Given the description of an element on the screen output the (x, y) to click on. 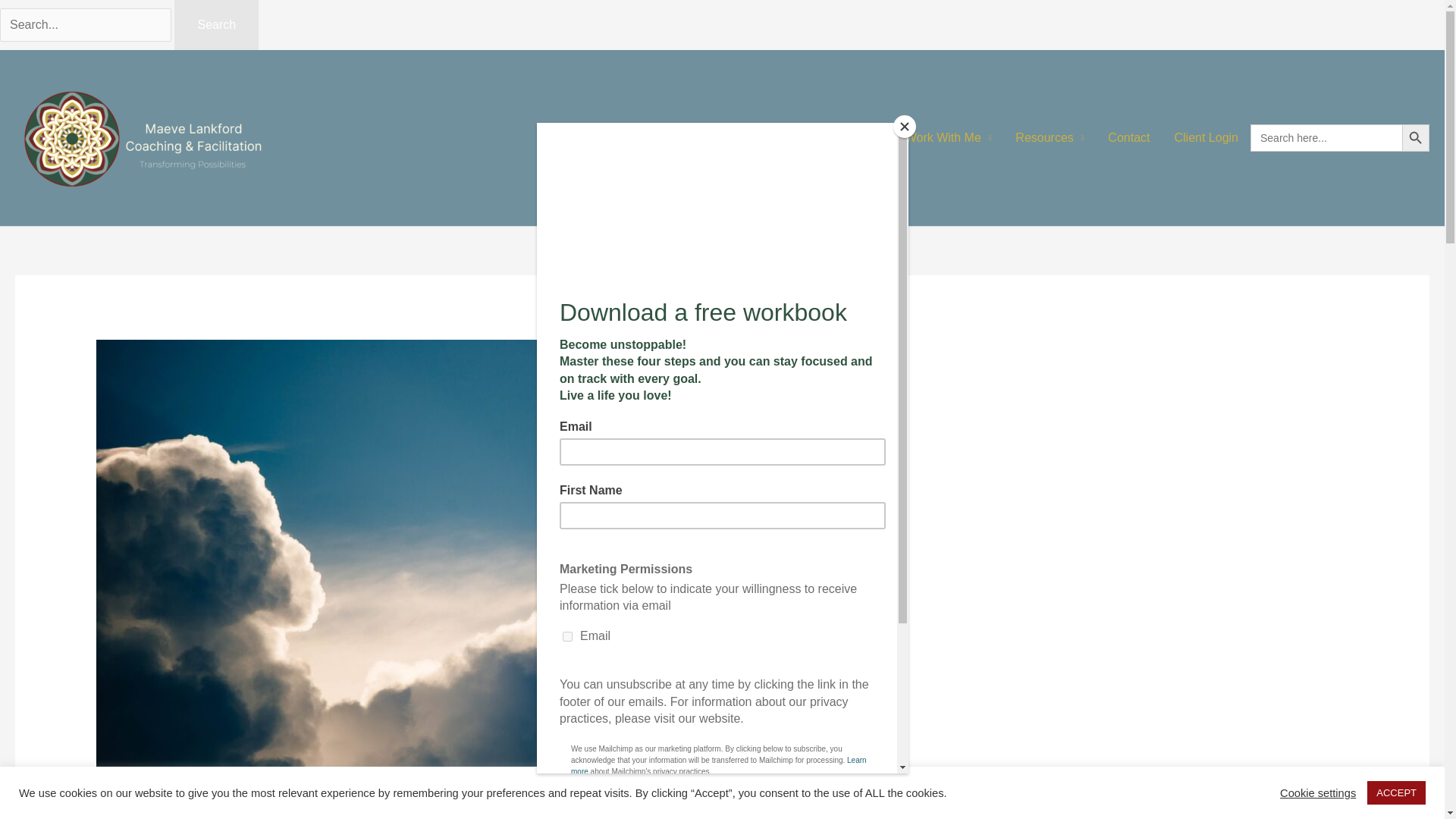
Search (216, 24)
Search (216, 24)
Cookie settings (1317, 792)
ACCEPT (1396, 792)
Search Button (1415, 137)
Search (216, 24)
